Given the description of an element on the screen output the (x, y) to click on. 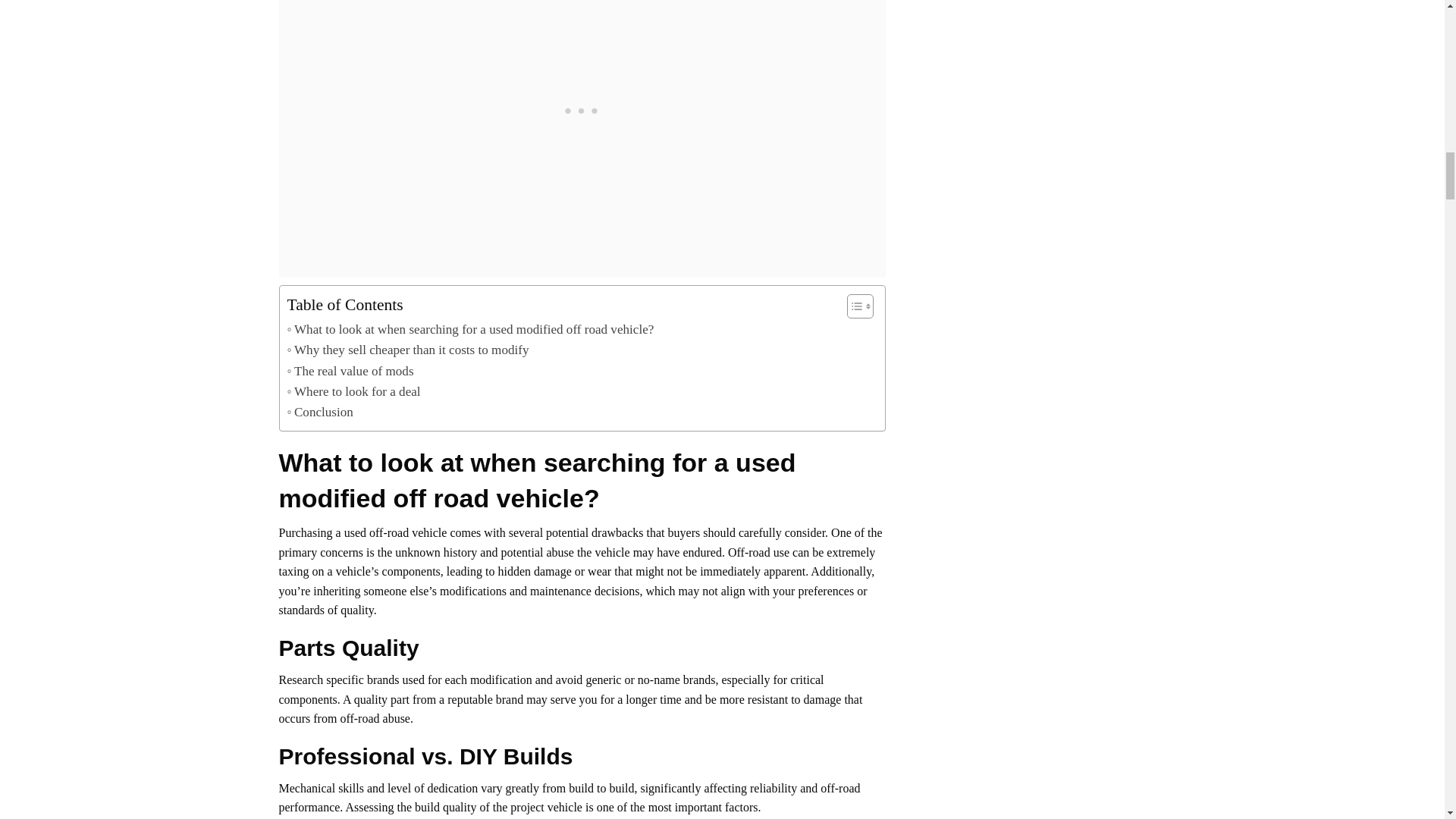
Where to look for a deal (353, 391)
Conclusion (319, 412)
Where to look for a deal (353, 391)
The real value of mods (349, 371)
Conclusion (319, 412)
Why they sell cheaper than it costs to modify (407, 349)
Why they sell cheaper than it costs to modify (407, 349)
The real value of mods (349, 371)
